Given the description of an element on the screen output the (x, y) to click on. 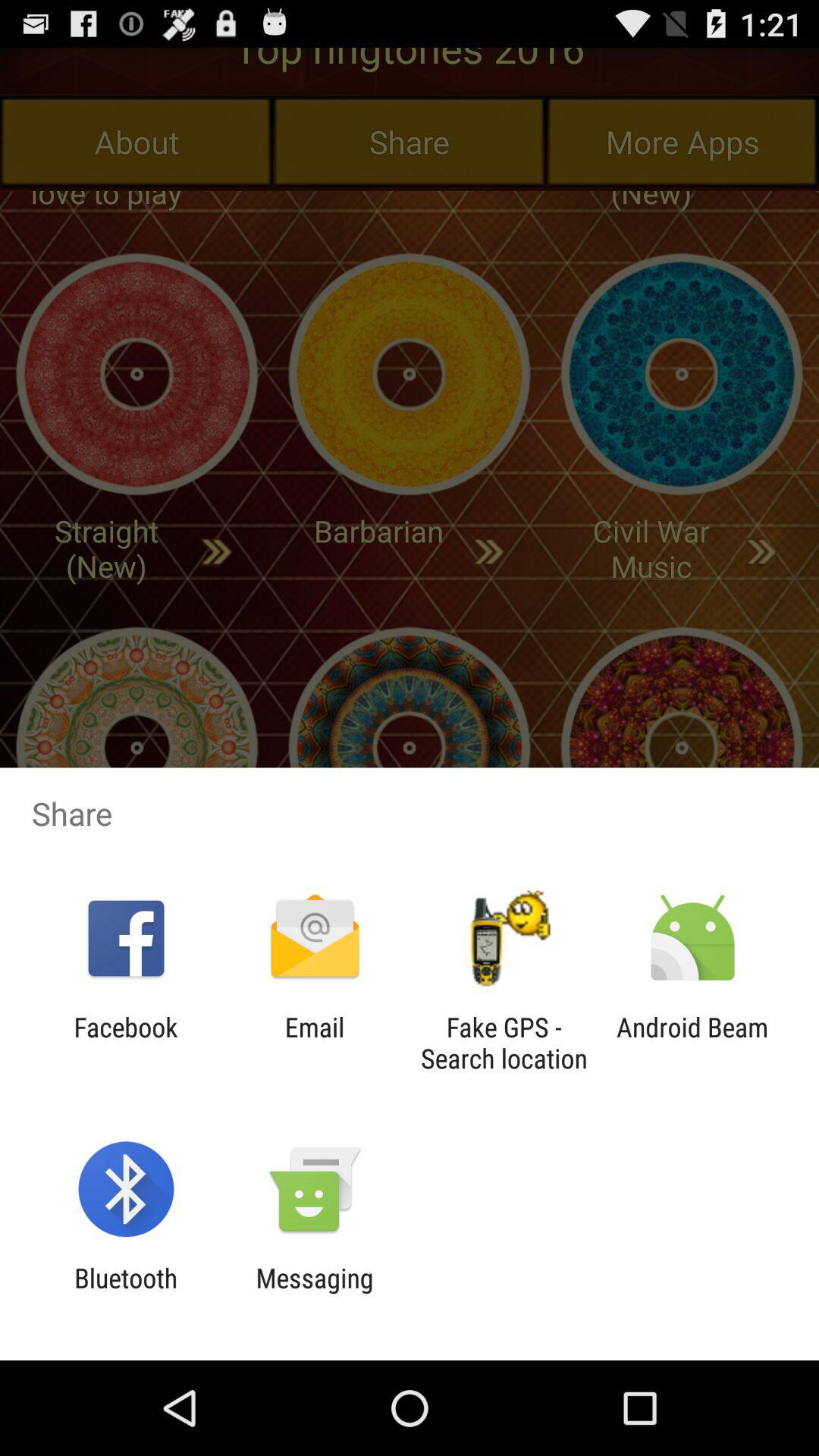
jump until the messaging (314, 1293)
